Given the description of an element on the screen output the (x, y) to click on. 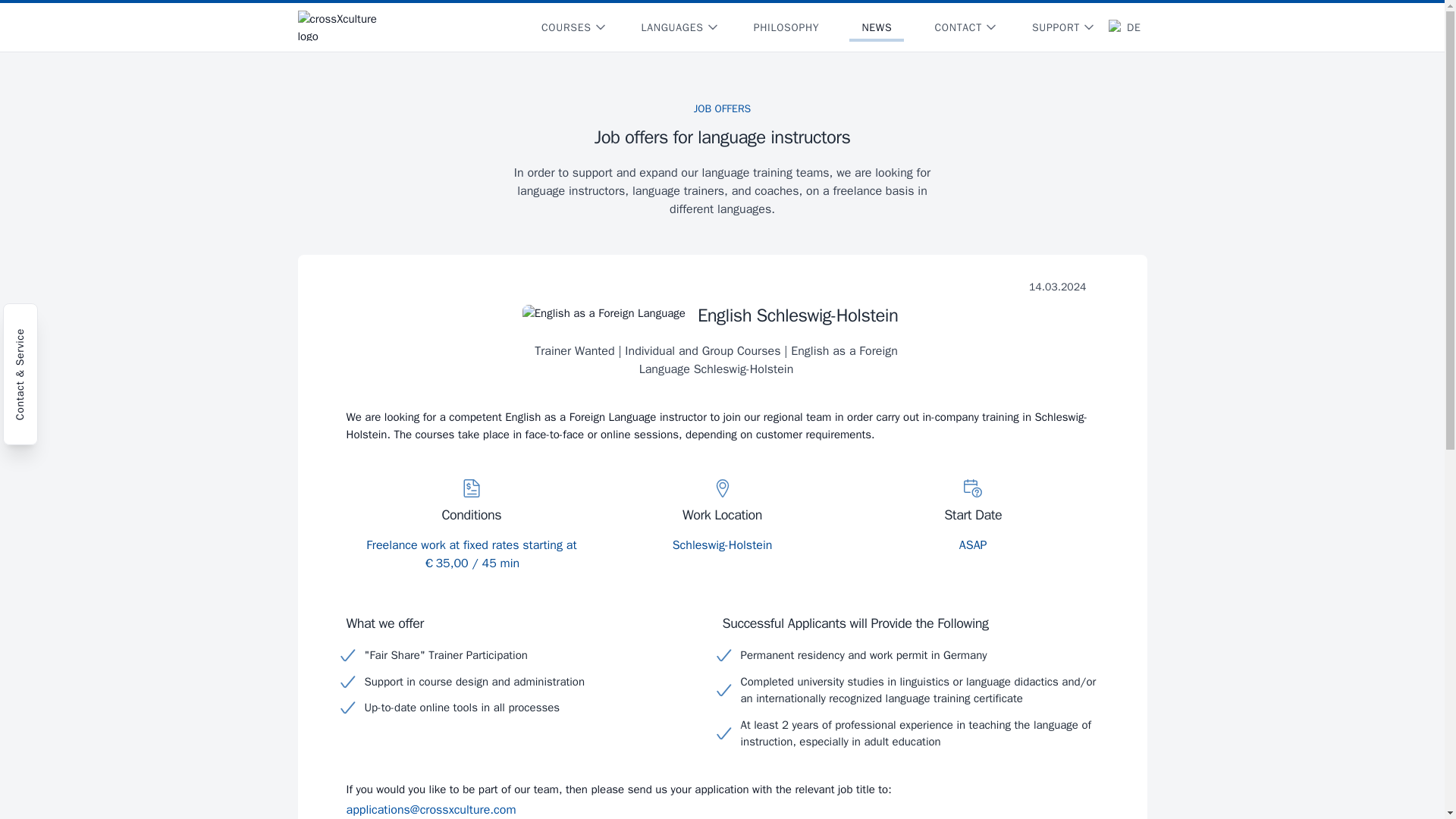
NEWS (876, 27)
PHILOSOPHY (786, 27)
Home (347, 25)
Deutsch (1124, 27)
DE (1124, 27)
